Given the description of an element on the screen output the (x, y) to click on. 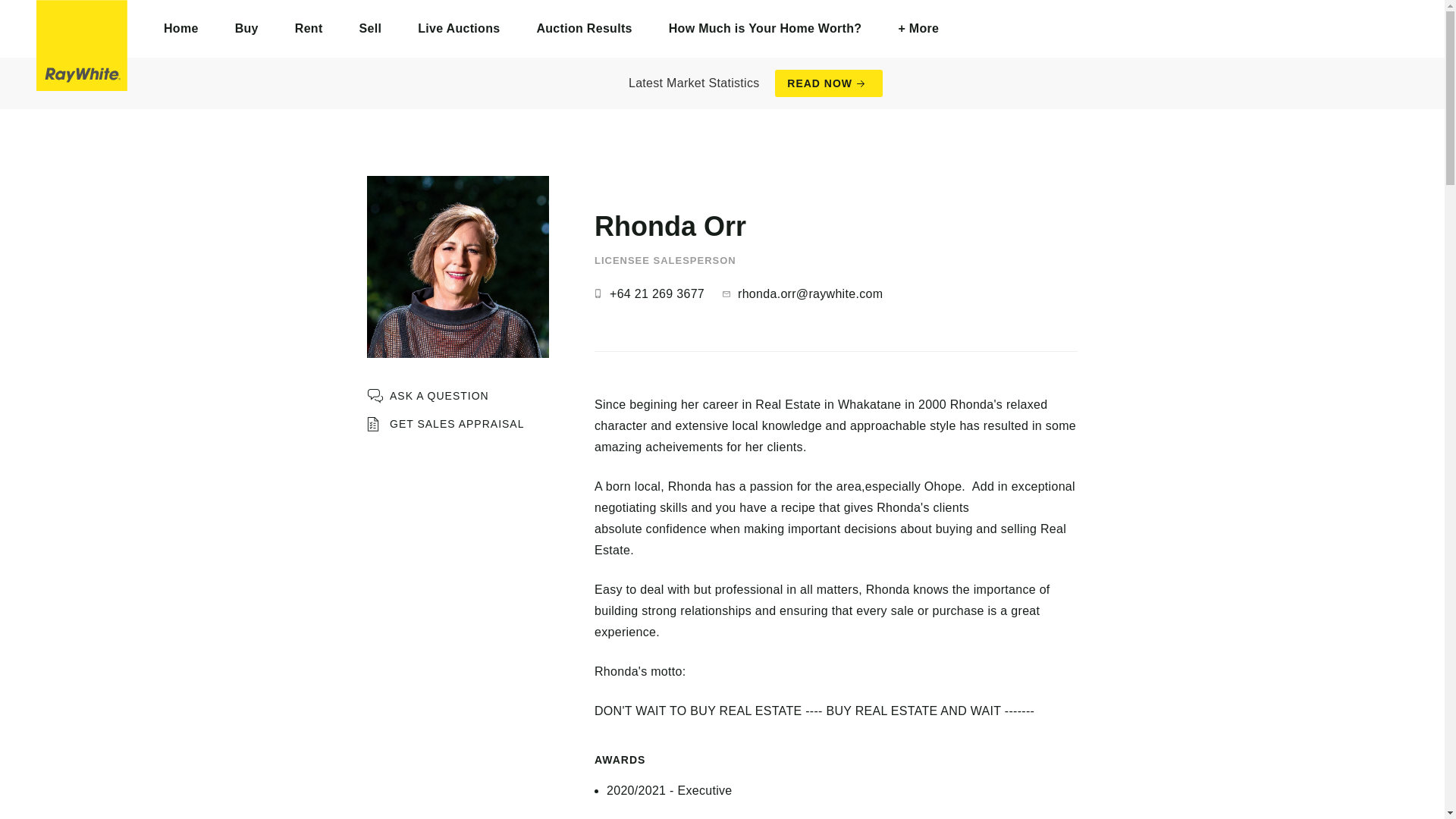
Ray White Ohope (82, 45)
Auction Results (583, 28)
Home (180, 28)
READ NOW (828, 83)
How Much is Your Home Worth? (765, 28)
GET SALES APPRAISAL (445, 424)
Live Auctions (458, 28)
ASK A QUESTION (427, 396)
